Given the description of an element on the screen output the (x, y) to click on. 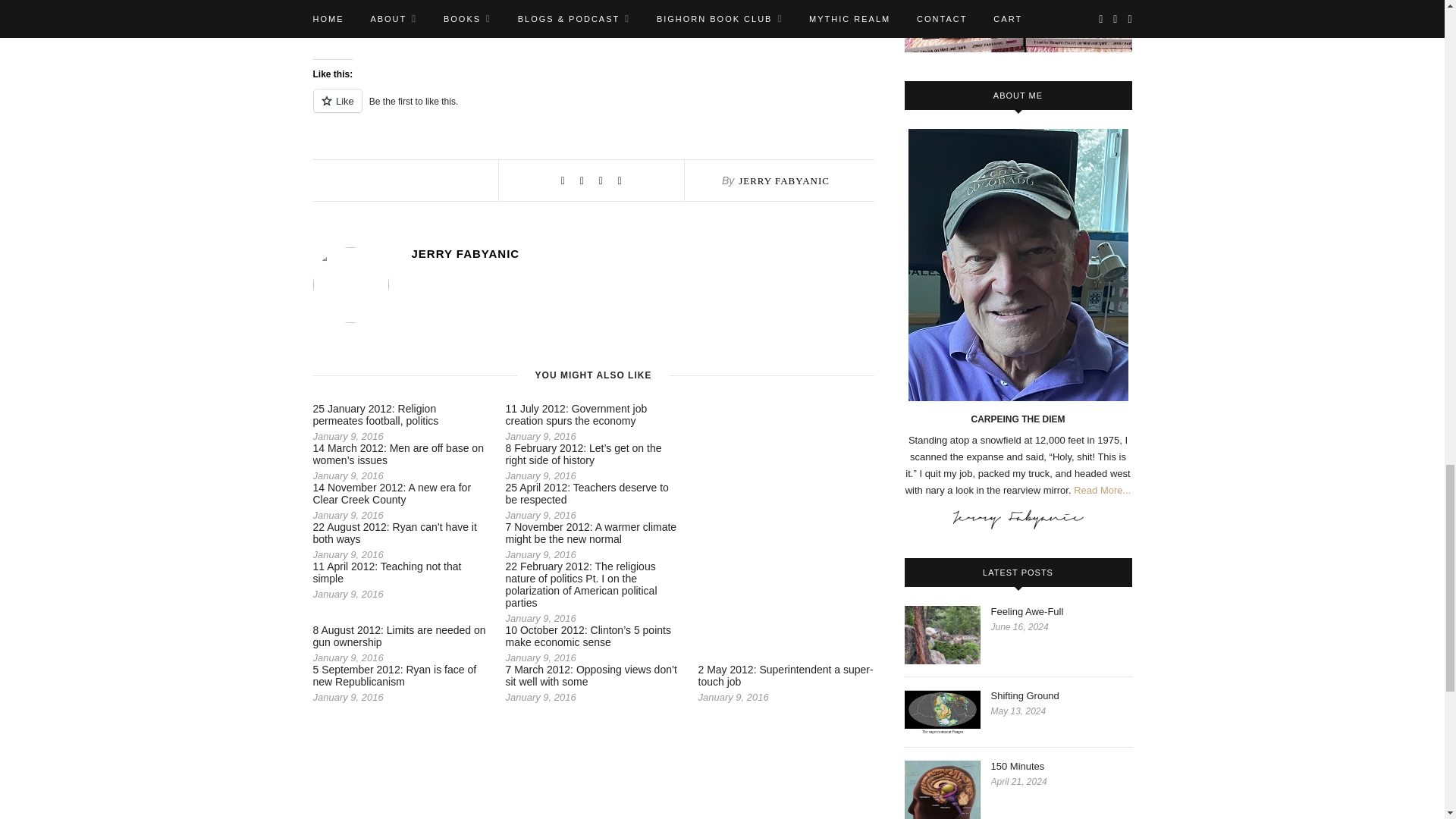
Like or Reblog (593, 109)
Click to share on Twitter (324, 25)
Posts by Jerry Fabyanic (641, 253)
Click to share on Facebook (354, 25)
Posts by Jerry Fabyanic (783, 180)
